Given the description of an element on the screen output the (x, y) to click on. 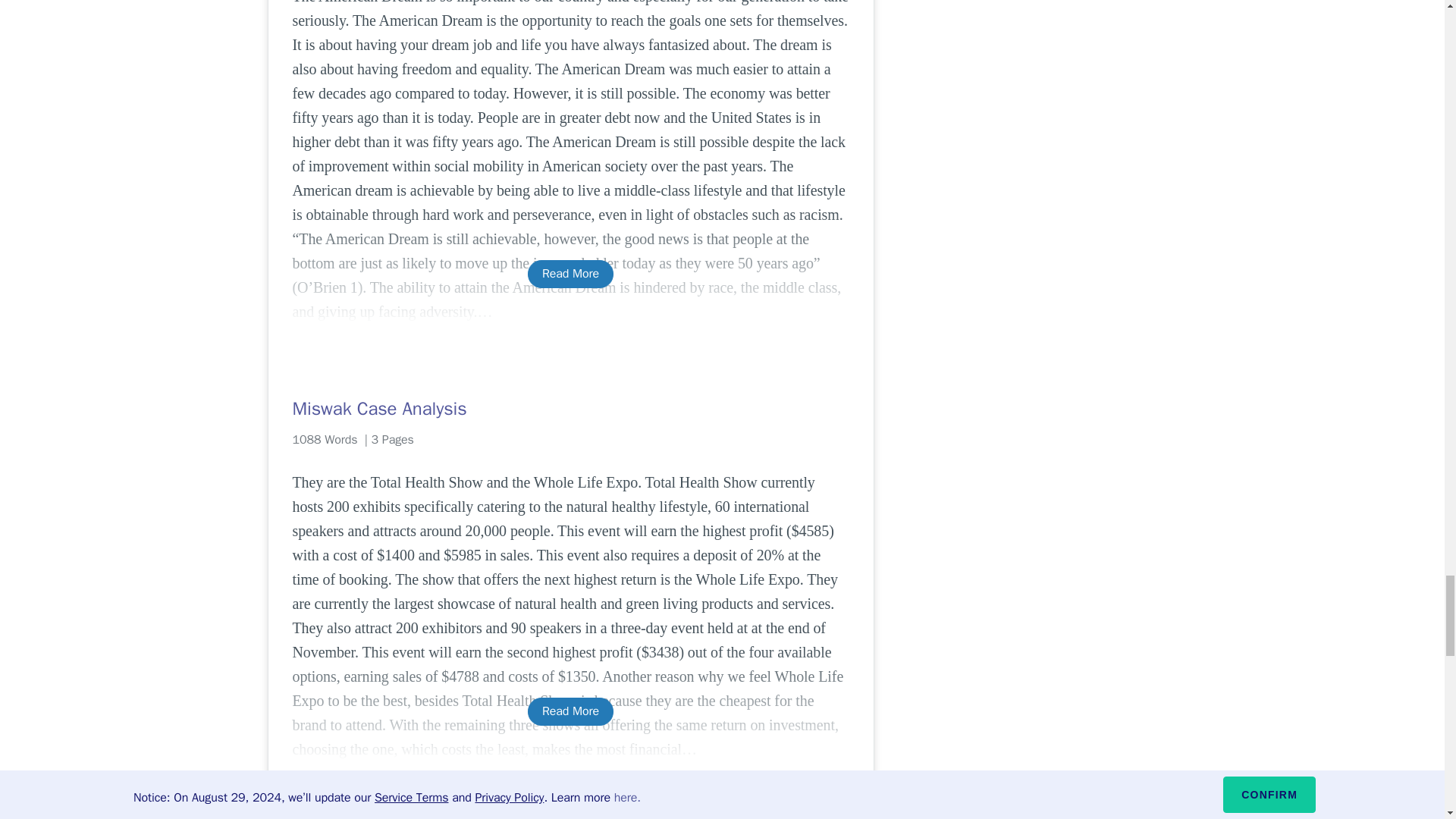
Read More (569, 711)
Miswak Case Analysis (570, 408)
Read More (569, 274)
